Given the description of an element on the screen output the (x, y) to click on. 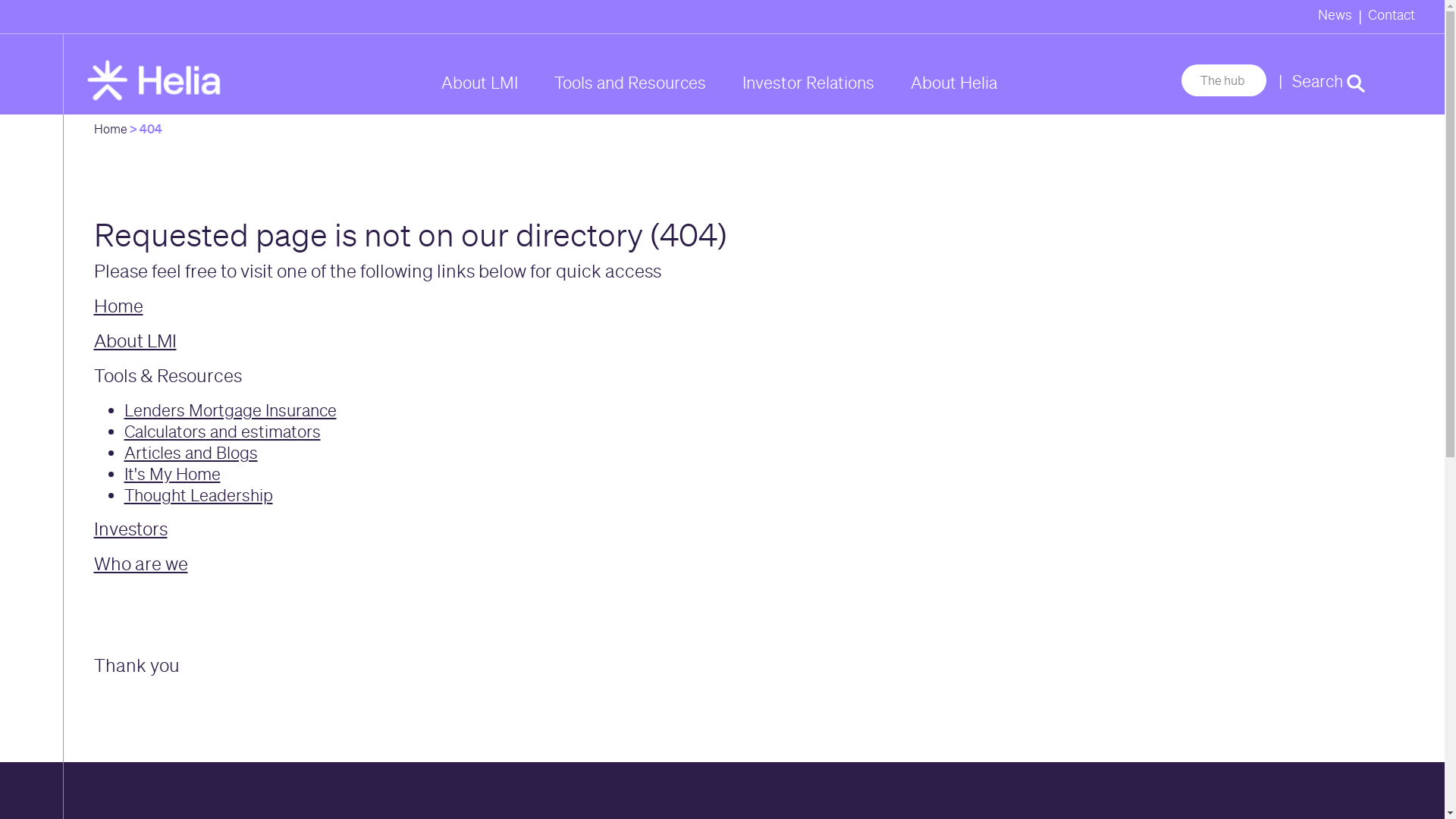
Contact Element type: text (1391, 16)
Search Element type: text (1328, 81)
News Element type: text (1334, 16)
Lenders Mortgage Insurance Element type: text (230, 410)
Home Element type: text (110, 128)
About LMI Element type: text (135, 341)
About Helia Element type: text (952, 82)
It's My Home Element type: text (172, 473)
Investor Relations Element type: text (807, 82)
Home Element type: text (118, 305)
Investors Element type: text (130, 529)
Who are we Element type: text (141, 564)
Tools and Resources Element type: text (629, 82)
Calculators and estimators Element type: text (222, 431)
Thought Leadership Element type: text (198, 495)
Articles and Blogs Element type: text (190, 452)
About LMI Element type: text (479, 82)
